Given the description of an element on the screen output the (x, y) to click on. 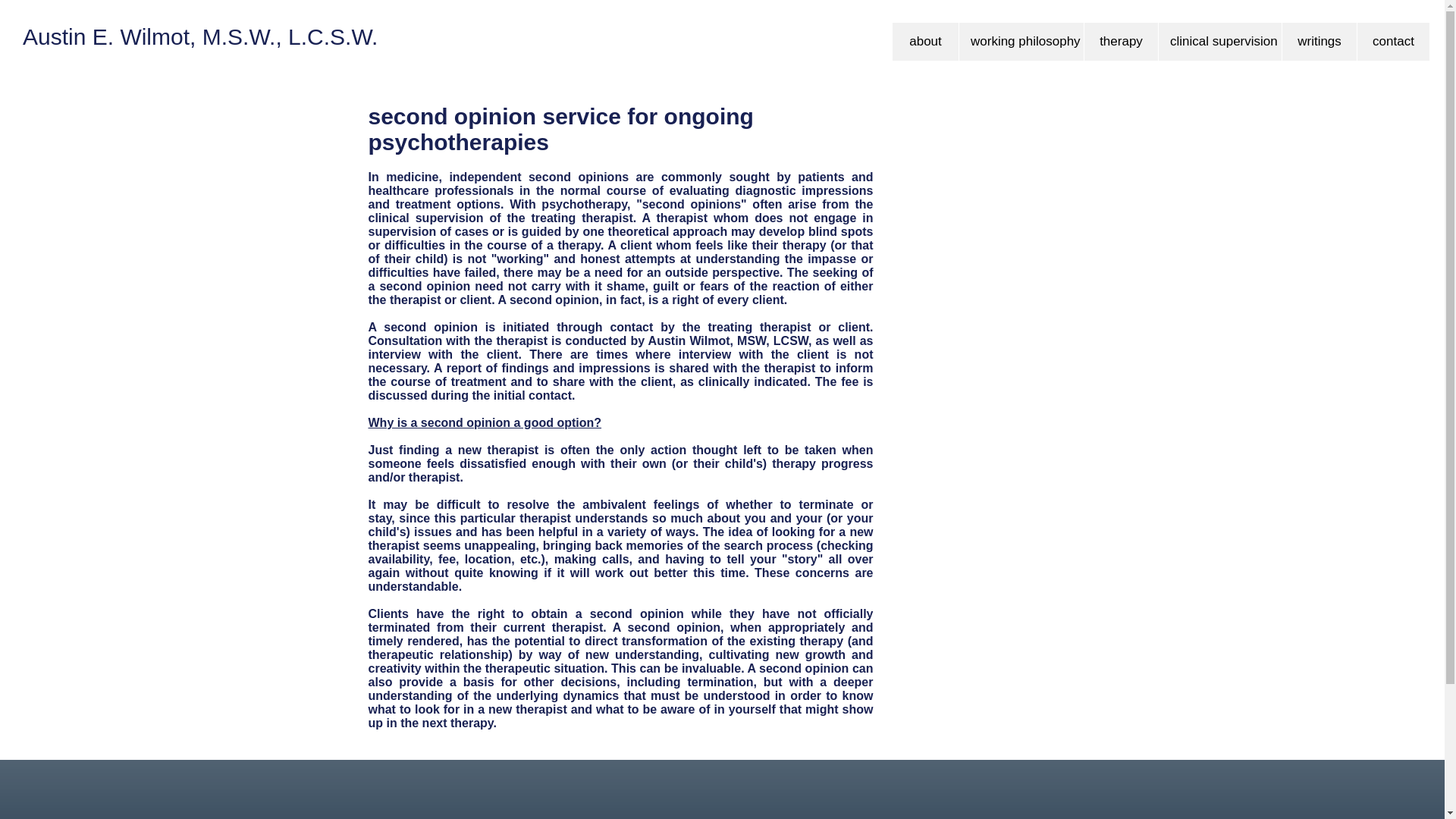
Austin E. Wilmot, M.S.W., L.C.S.W. (200, 37)
writings (1318, 41)
working philosophy (1020, 41)
therapy (1120, 41)
contact (1392, 41)
clinical supervision (1219, 41)
about (925, 41)
